Given the description of an element on the screen output the (x, y) to click on. 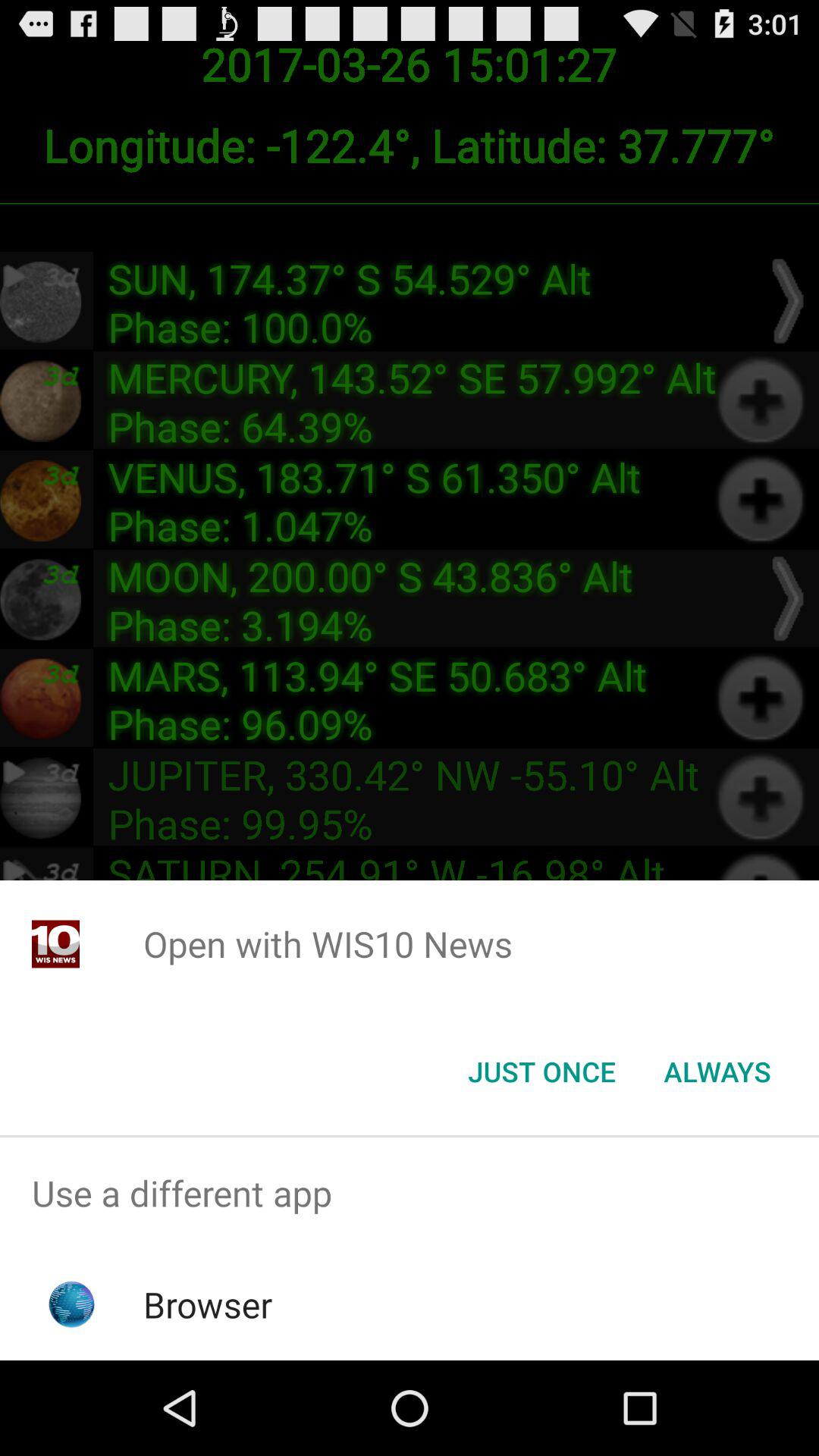
scroll until use a different icon (409, 1192)
